Given the description of an element on the screen output the (x, y) to click on. 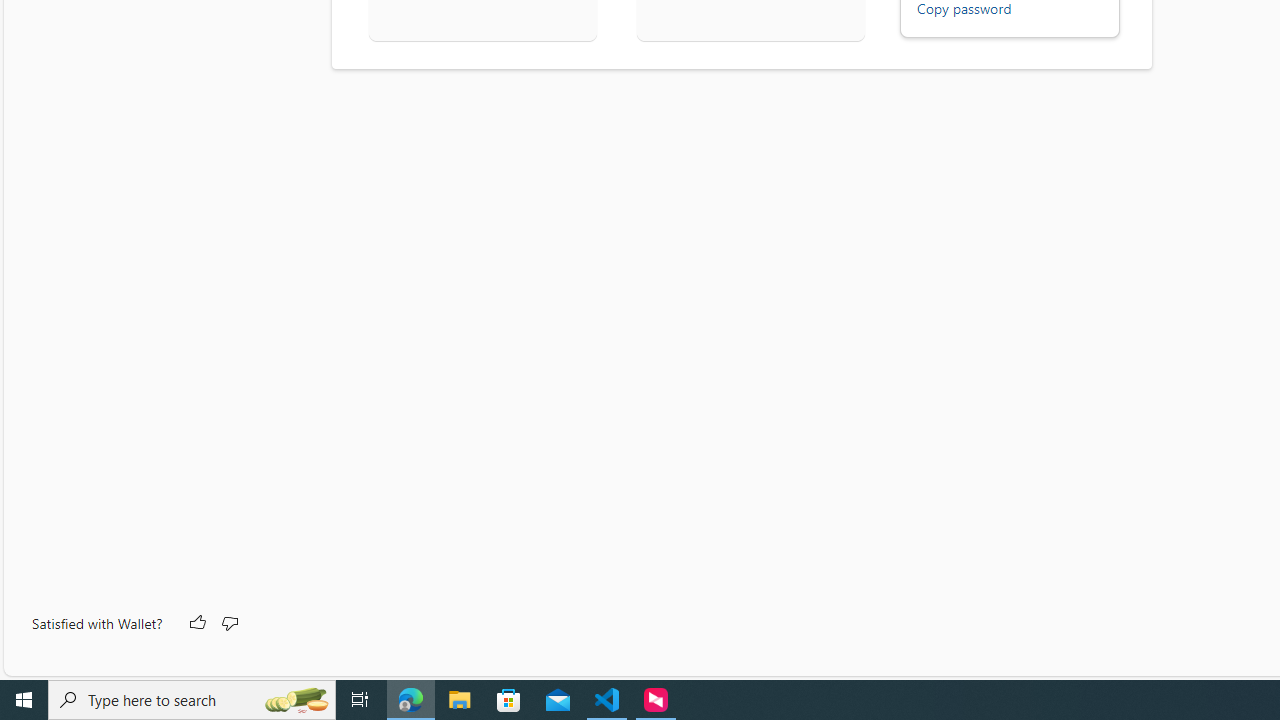
Microsoft Edge - 1 running window (411, 699)
Task View (359, 699)
Microsoft Store (509, 699)
File Explorer (460, 699)
Search highlights icon opens search home window (295, 699)
Like (196, 623)
Type here to search (191, 699)
Start (24, 699)
Visual Studio Code - 1 running window (607, 699)
